Given the description of an element on the screen output the (x, y) to click on. 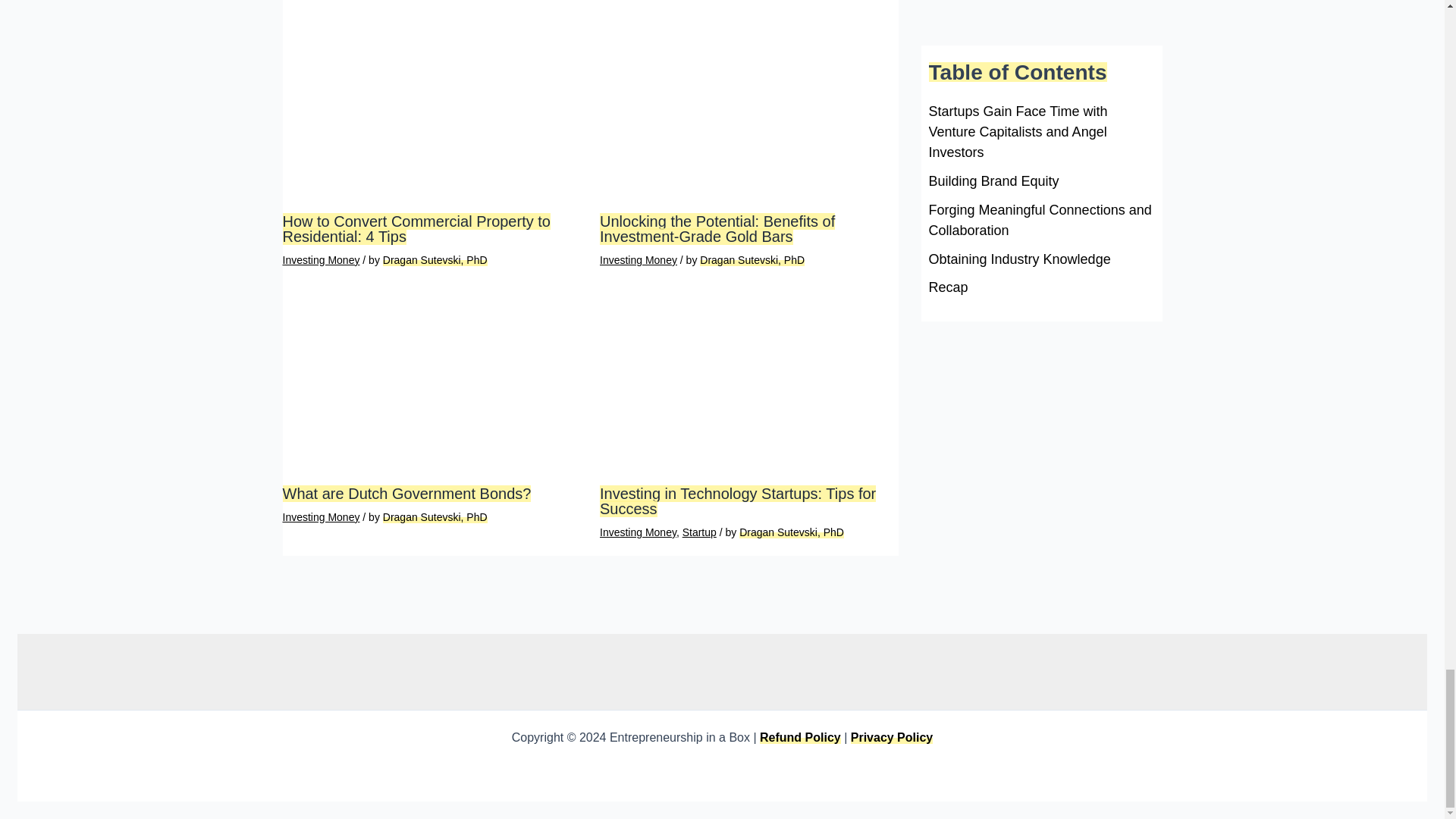
View all posts by Dragan Sutevski, PhD (752, 259)
View all posts by Dragan Sutevski, PhD (791, 532)
What are Dutch Government Bonds? (406, 493)
Investing Money (638, 259)
Dragan Sutevski, PhD (434, 517)
View all posts by Dragan Sutevski, PhD (434, 517)
Dragan Sutevski, PhD (434, 259)
Dragan Sutevski, PhD (752, 259)
Investing Money (320, 517)
How to Convert Commercial Property to Residential: 4 Tips (416, 228)
Investing Money (320, 259)
View all posts by Dragan Sutevski, PhD (434, 259)
